Given the description of an element on the screen output the (x, y) to click on. 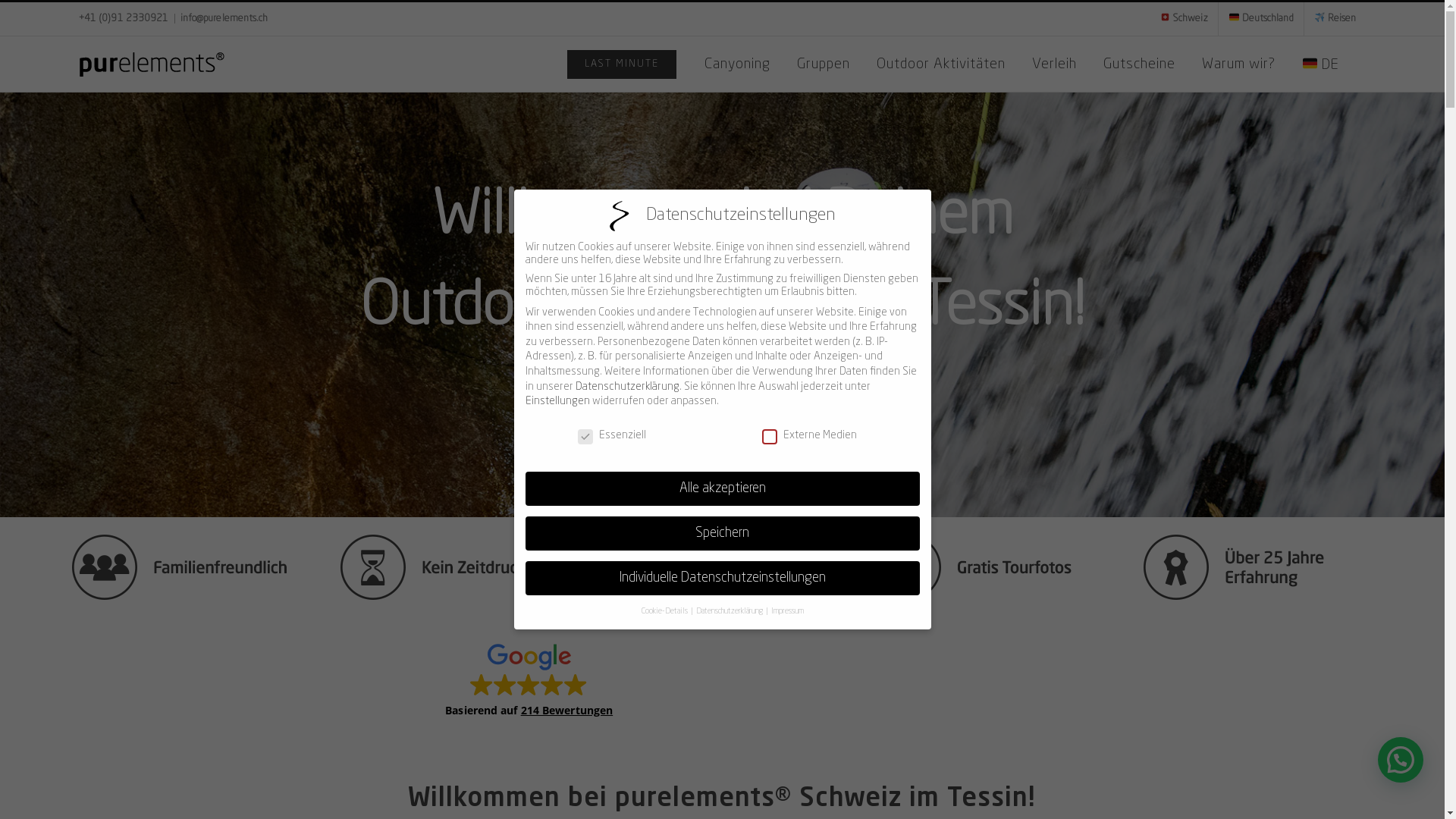
Basierend auf 214 Bewertungen Element type: text (528, 678)
DE Element type: text (1320, 63)
Online buchen Element type: text (722, 393)
Schweiz Element type: text (1183, 18)
Individuelle Datenschutzeinstellungen Element type: text (721, 578)
Gruppen Element type: text (823, 63)
Verleih Element type: text (1054, 63)
Alle akzeptieren Element type: text (721, 488)
+41 (0)91 2330921 Element type: text (123, 18)
info@purelements.ch Element type: text (224, 18)
Impressum Element type: text (786, 611)
Gutscheine Element type: text (1139, 63)
LAST MINUTE Element type: text (621, 63)
Cookie-Details Element type: text (665, 611)
Einstellungen Element type: text (556, 400)
Deutschland Element type: text (1260, 18)
Warum wir? Element type: text (1238, 63)
Speichern Element type: text (721, 533)
Canyoning Element type: text (737, 63)
Reisen Element type: text (1335, 18)
